Given the description of an element on the screen output the (x, y) to click on. 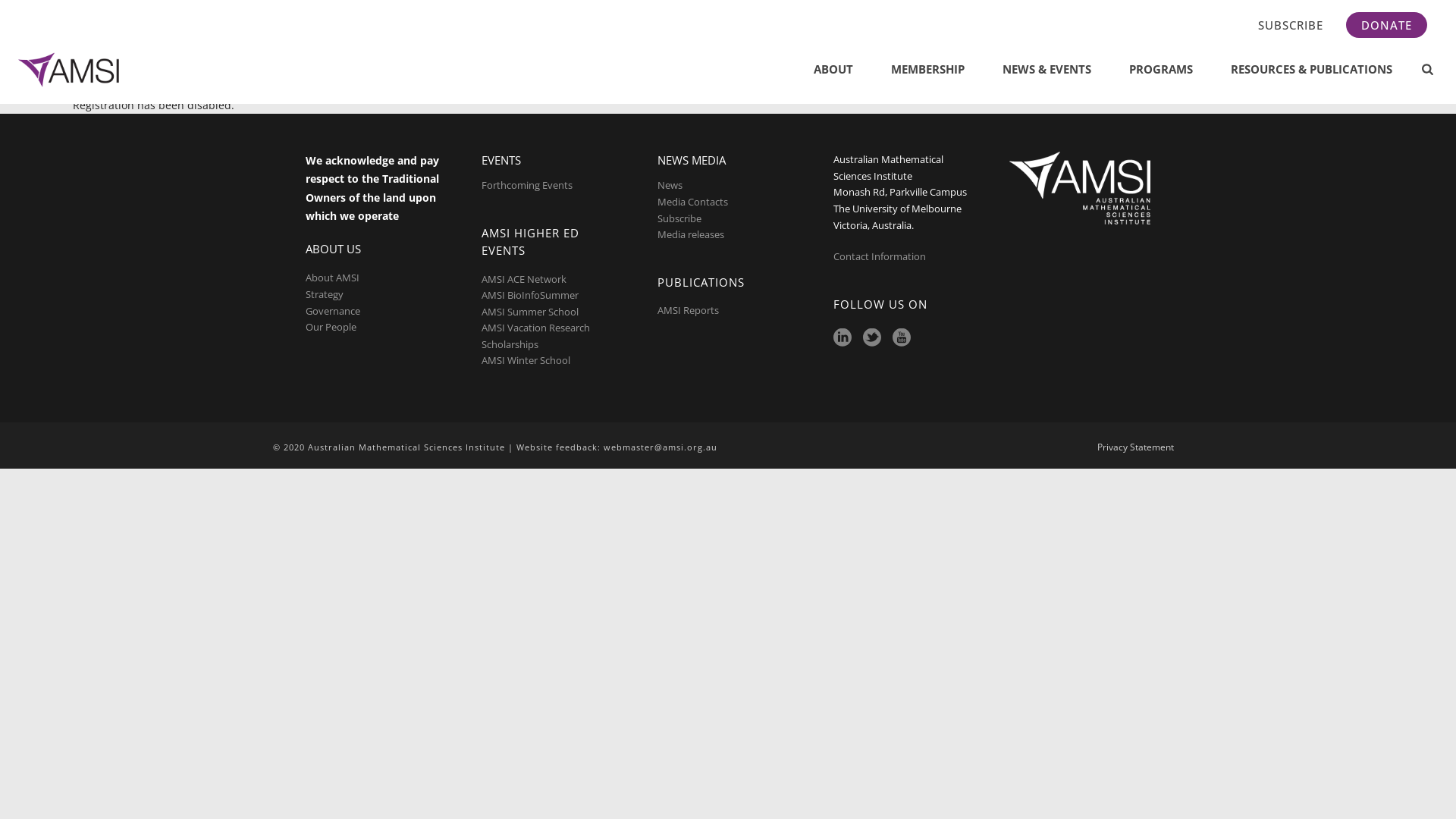
AMSI Summer School Element type: text (529, 311)
Australian Mathematical Sciences Institute Element type: hover (71, 69)
ABOUT Element type: text (833, 69)
AMSI Winter School Element type: text (525, 360)
News Element type: text (669, 184)
AMSI Vacation Research Scholarships Element type: text (535, 335)
Media Contacts Element type: text (692, 201)
DONATE Element type: text (1386, 24)
Subscribe Element type: text (679, 218)
Follow Us on youtube Element type: hover (901, 338)
Our People Element type: text (330, 326)
webmaster@amsi.org.au Element type: text (660, 446)
Strategy Element type: text (324, 294)
NEWS & EVENTS Element type: text (1046, 69)
AMSI ACE Network Element type: text (523, 278)
Governance Element type: text (332, 310)
SUBSCRIBE Element type: text (1290, 24)
About AMSI Element type: text (332, 277)
MEMBERSHIP Element type: text (927, 69)
Media releases Element type: text (690, 234)
PROGRAMS Element type: text (1160, 69)
Forthcoming Events Element type: text (526, 184)
Follow Us on linkedin Element type: hover (842, 338)
AMSI BioInfoSummer Element type: text (529, 294)
Privacy Statement Element type: text (1135, 447)
AMSI Reports Element type: text (687, 309)
RESOURCES & PUBLICATIONS Element type: text (1311, 69)
Follow Us on twitter Element type: hover (871, 338)
Contact Information  Element type: text (880, 256)
